Given the description of an element on the screen output the (x, y) to click on. 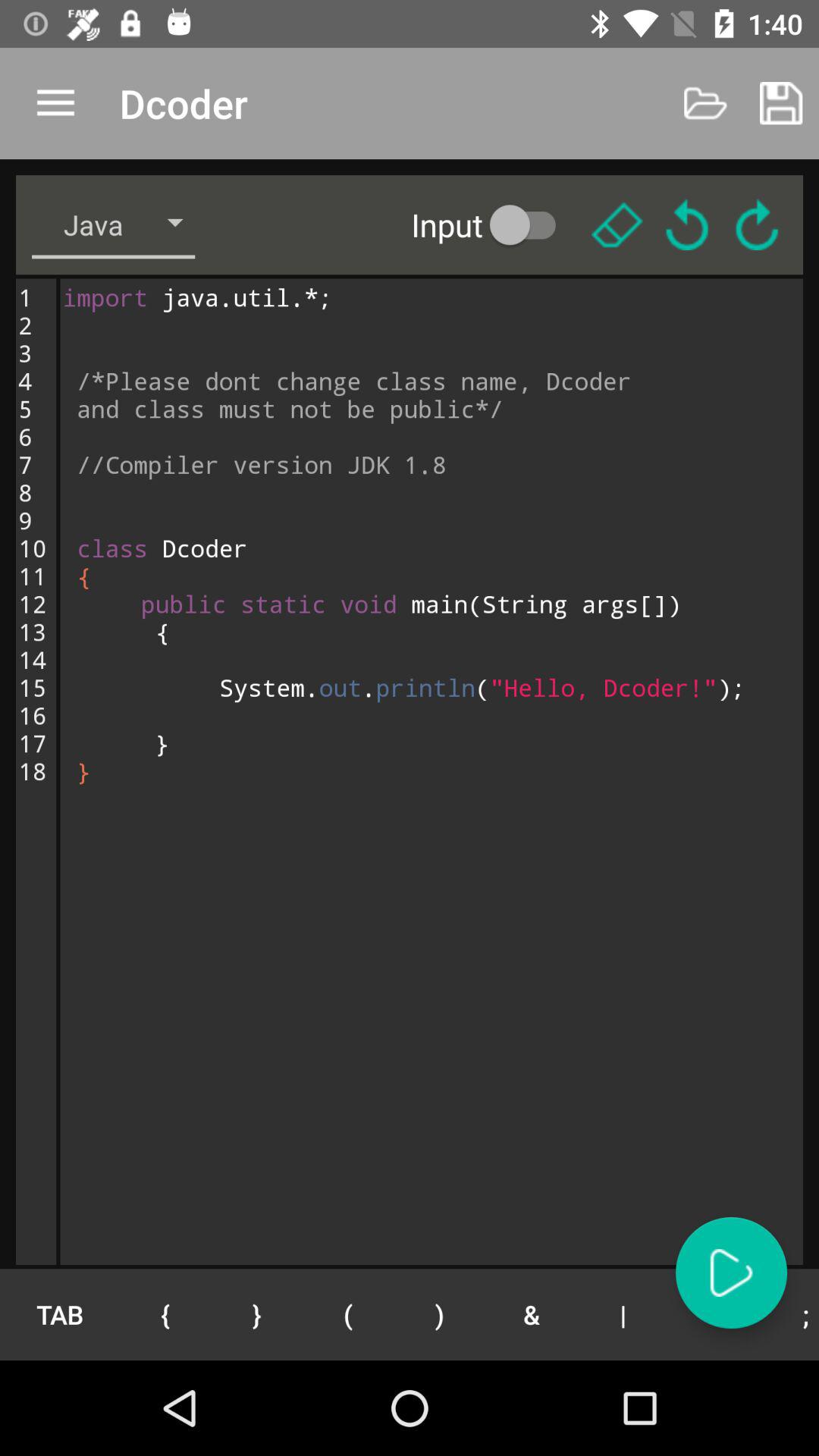
to refresh the page option (756, 224)
